Given the description of an element on the screen output the (x, y) to click on. 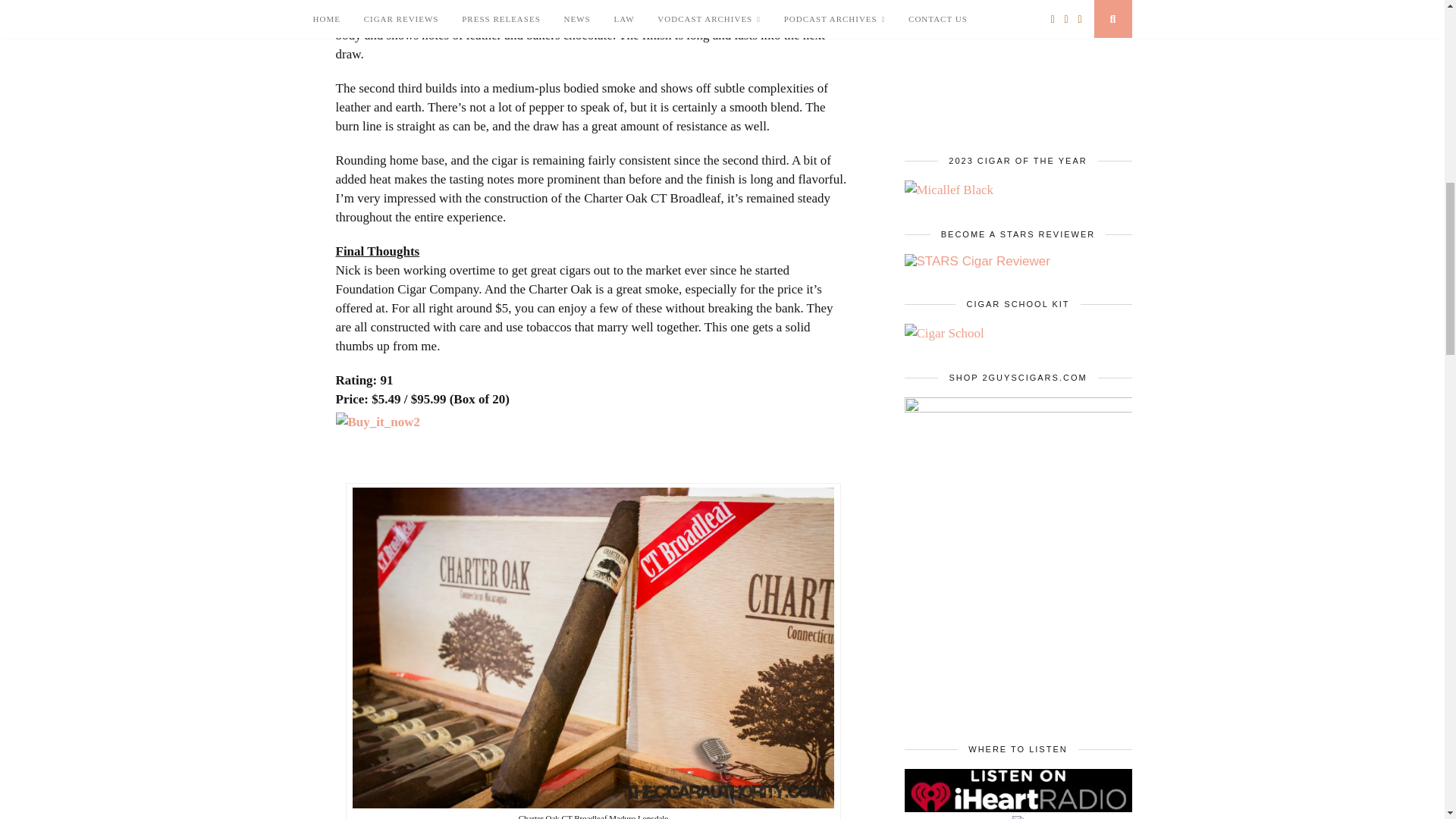
After lighting (370, 16)
